Given the description of an element on the screen output the (x, y) to click on. 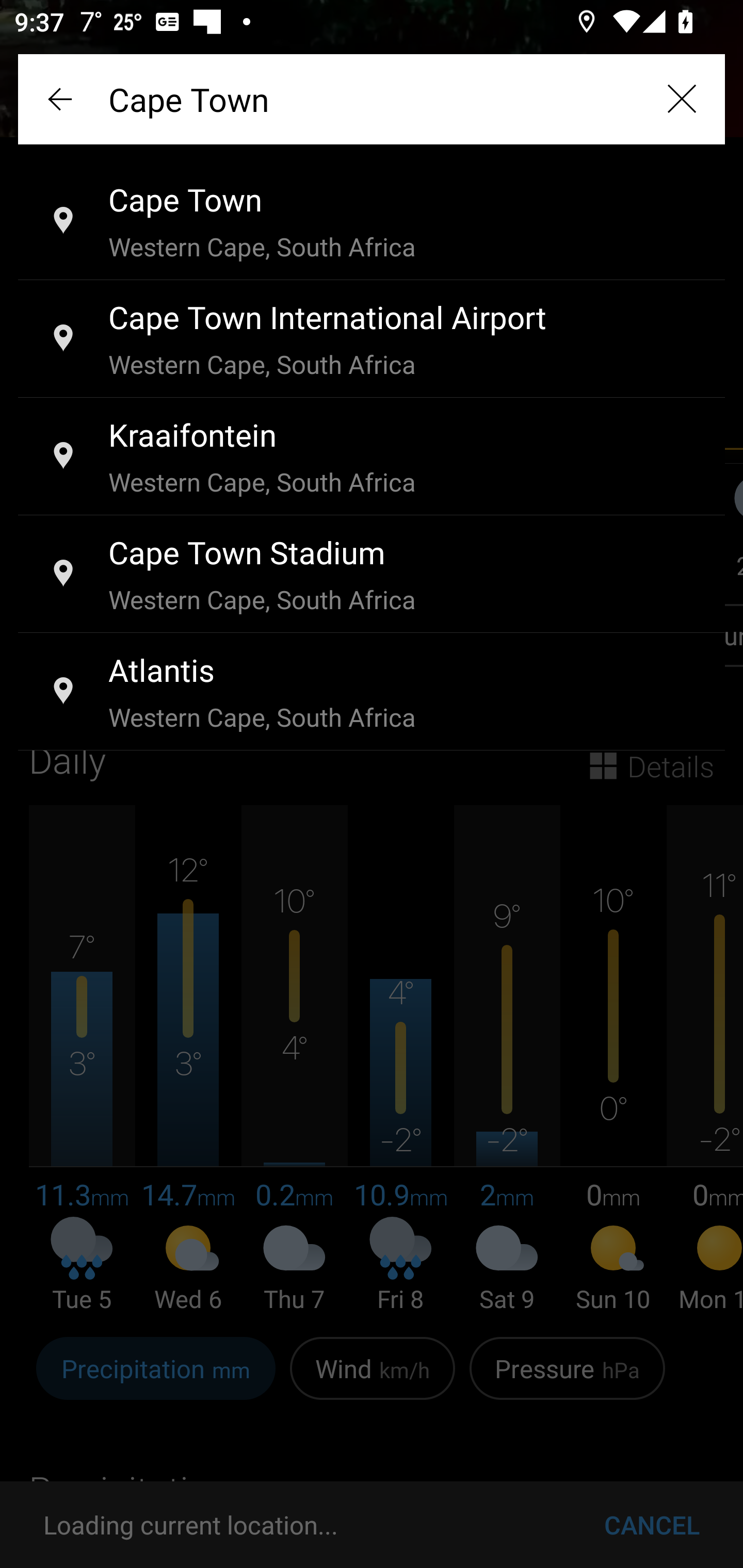
Cape Town (371, 99)
 (681, 99)
 (61, 99)
 Cape Town Western Cape, South Africa (371, 221)
 Kraaifontein Western Cape, South Africa (371, 456)
 Cape Town Stadium Western Cape, South Africa (371, 574)
 Atlantis Western Cape, South Africa (371, 692)
